Given the description of an element on the screen output the (x, y) to click on. 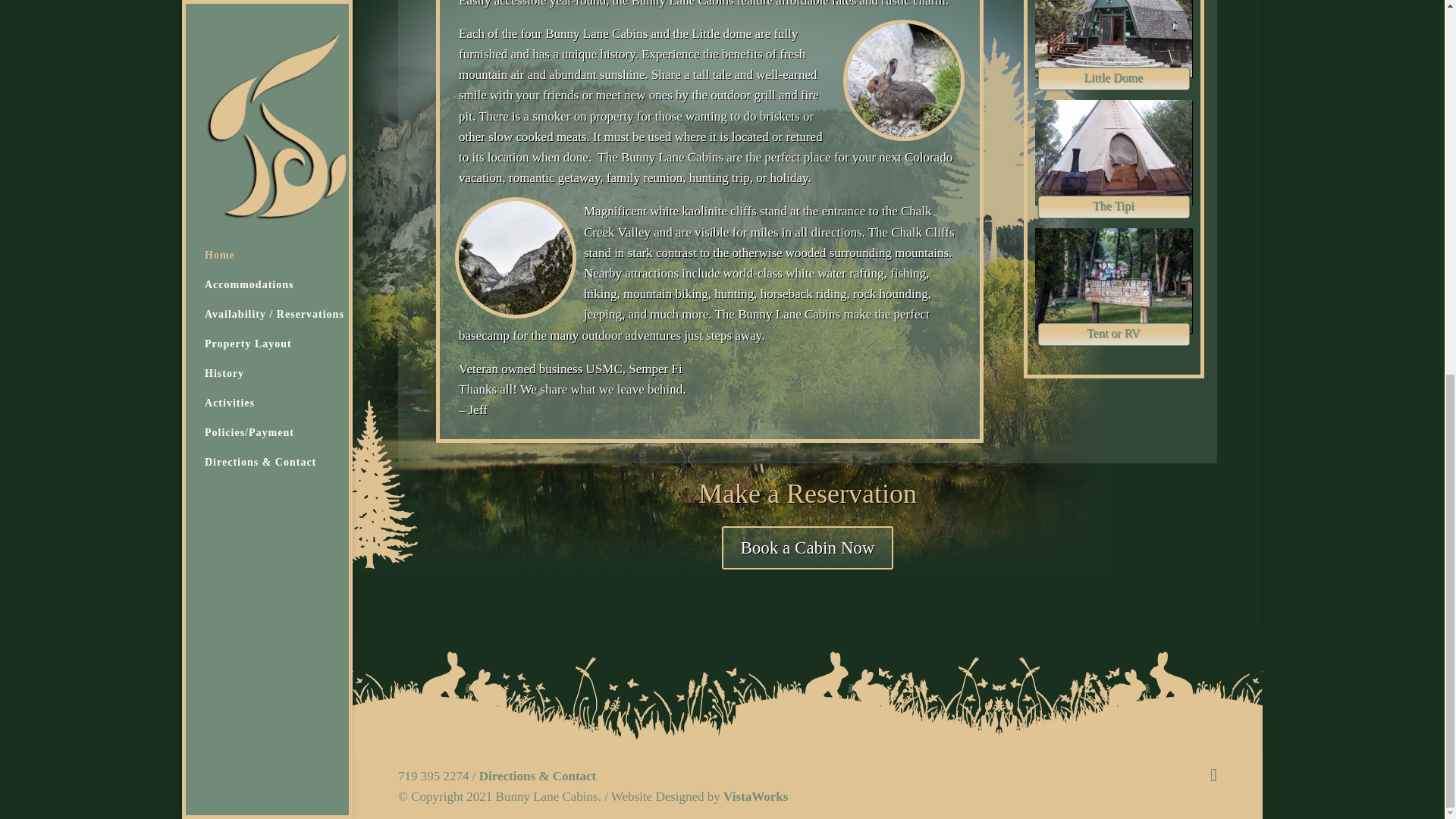
Little Dome (1113, 78)
